Given the description of an element on the screen output the (x, y) to click on. 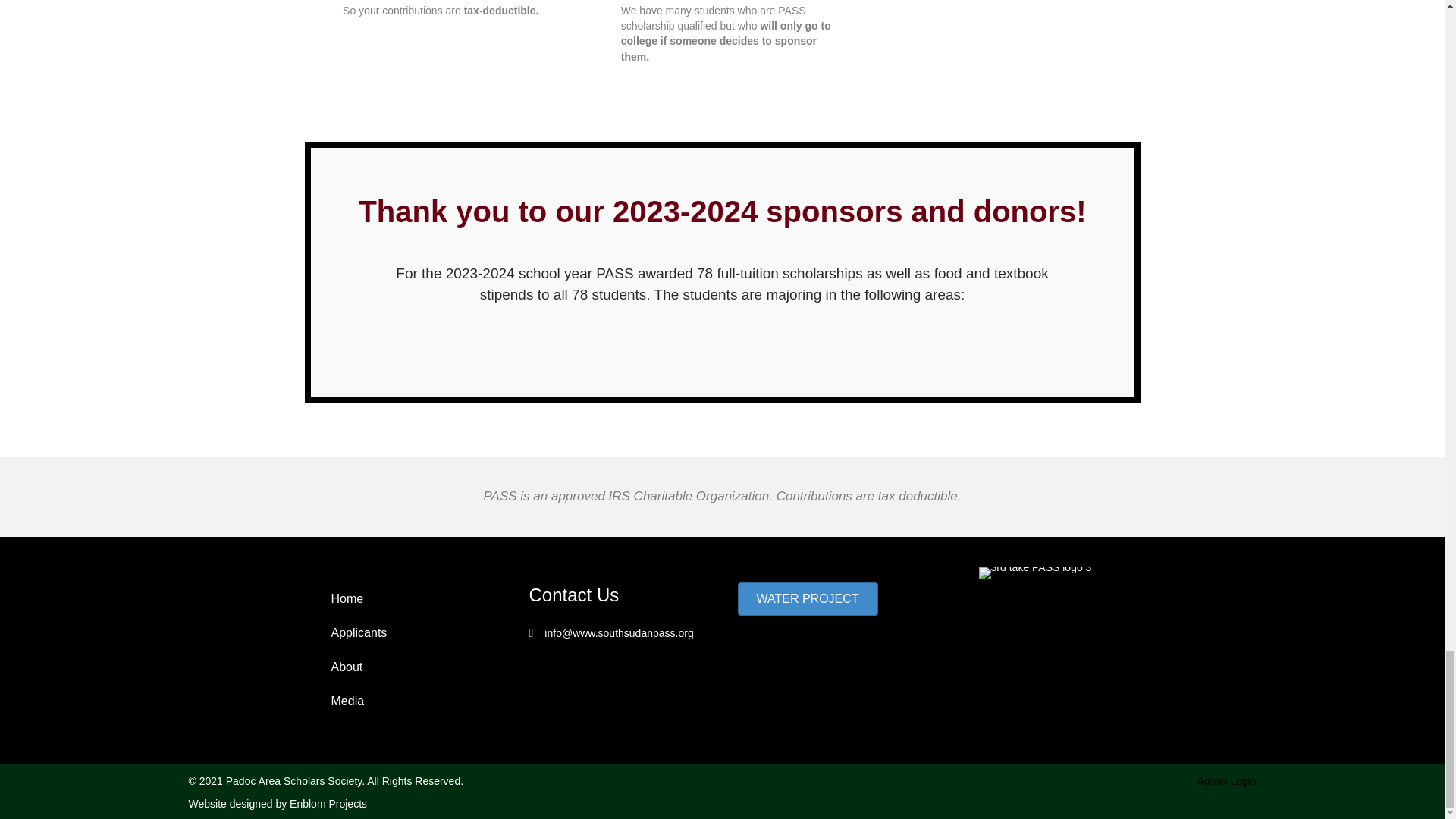
Home (408, 598)
About (408, 666)
3rd take PASS logo 3 (1035, 573)
Admin Login (1226, 780)
Media (408, 701)
Applicants (408, 633)
WATER PROJECT (806, 598)
